Given the description of an element on the screen output the (x, y) to click on. 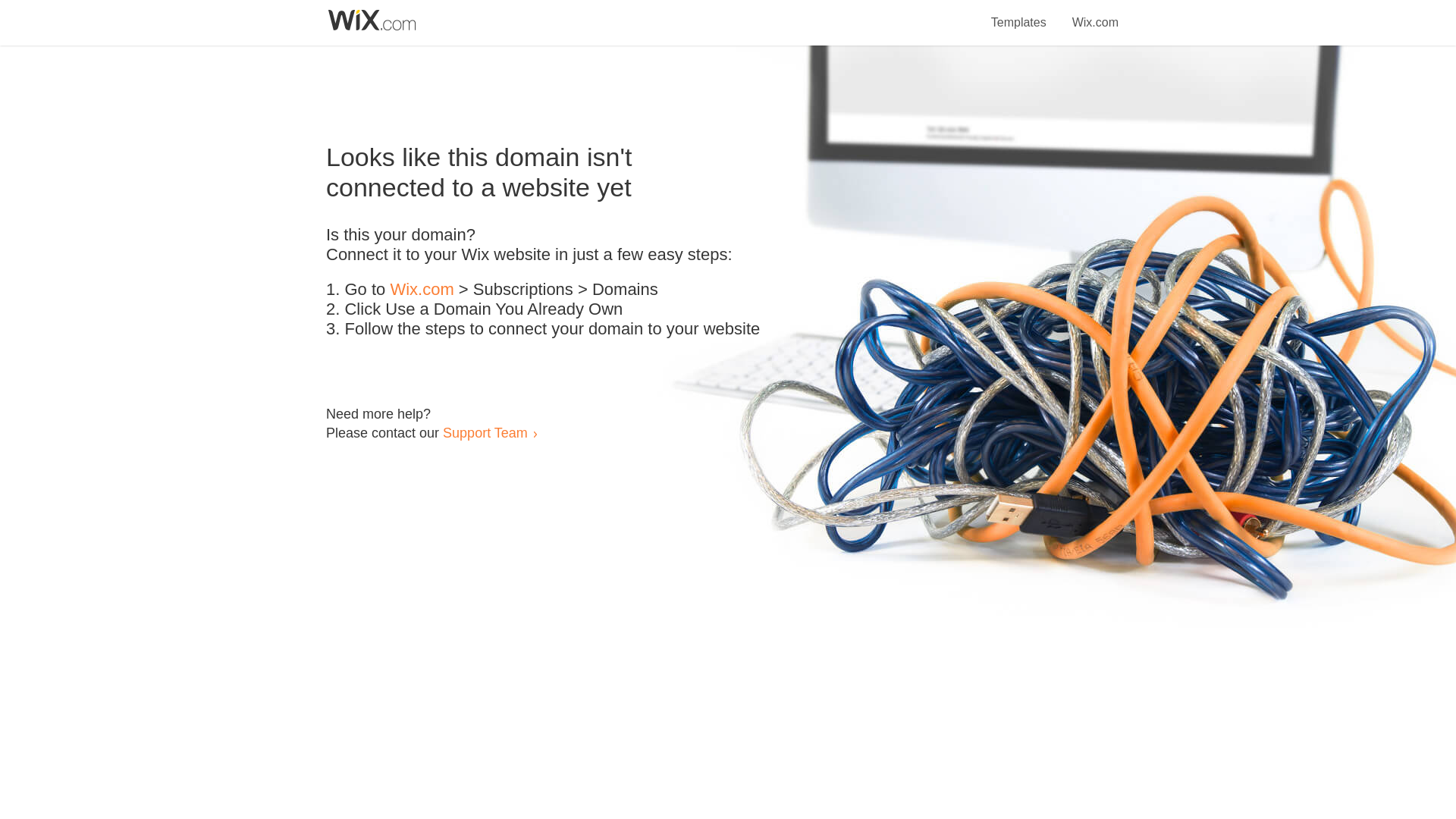
Templates (1018, 14)
Wix.com (1095, 14)
Wix.com (421, 289)
Support Team (484, 432)
